Given the description of an element on the screen output the (x, y) to click on. 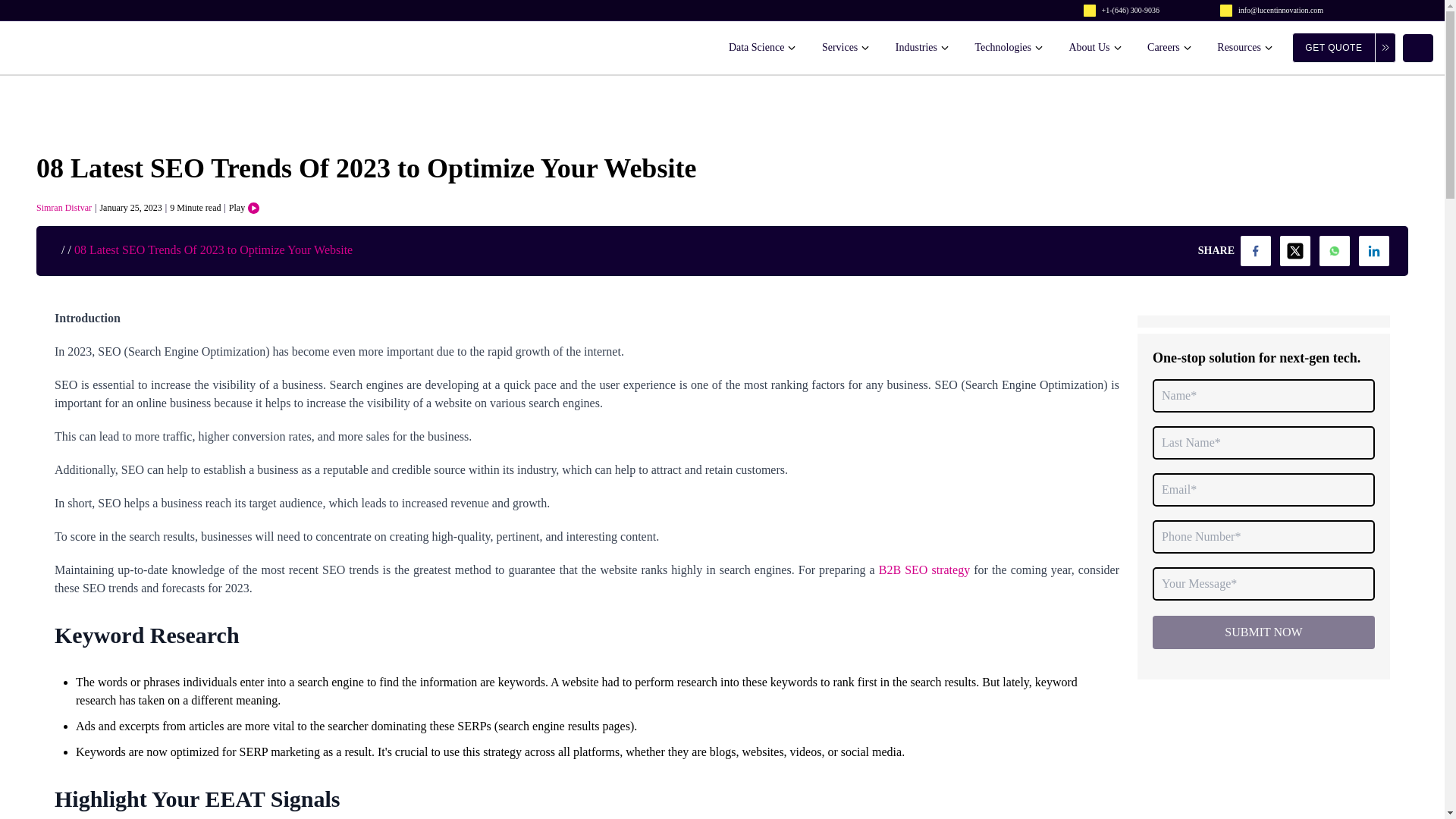
lucent innovation - whatsapp (1334, 250)
search (1417, 47)
Careers (1169, 47)
GET QUOTE (1343, 47)
Data Science (762, 47)
Industries (922, 47)
SUBMIT NOW (1263, 632)
Services (845, 47)
B2B SEO strategy (924, 569)
Technologies (1009, 47)
lucent innovation - twitter (1294, 250)
About Us (1094, 47)
lucent innovation - facebook (1255, 250)
Resources (1244, 47)
